Given the description of an element on the screen output the (x, y) to click on. 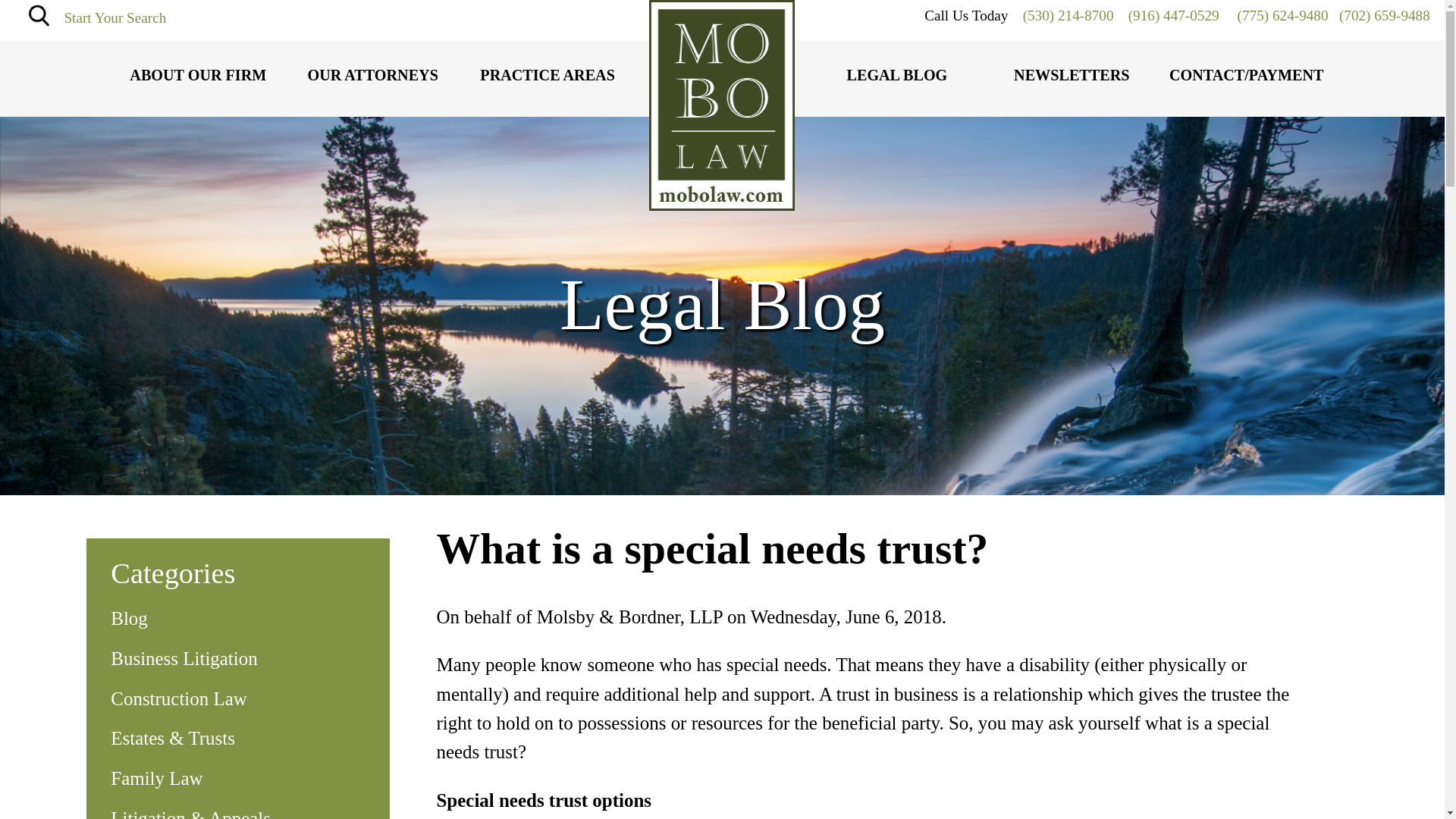
ABOUT OUR FIRM (197, 75)
Construction Law (237, 698)
PRACTICE AREAS (547, 75)
Business Litigation (237, 658)
Start Your Search (114, 17)
OUR ATTORNEYS (372, 75)
Family Law (237, 778)
LEGAL BLOG (896, 75)
NEWSLETTERS (1071, 75)
Blog (237, 618)
